Given the description of an element on the screen output the (x, y) to click on. 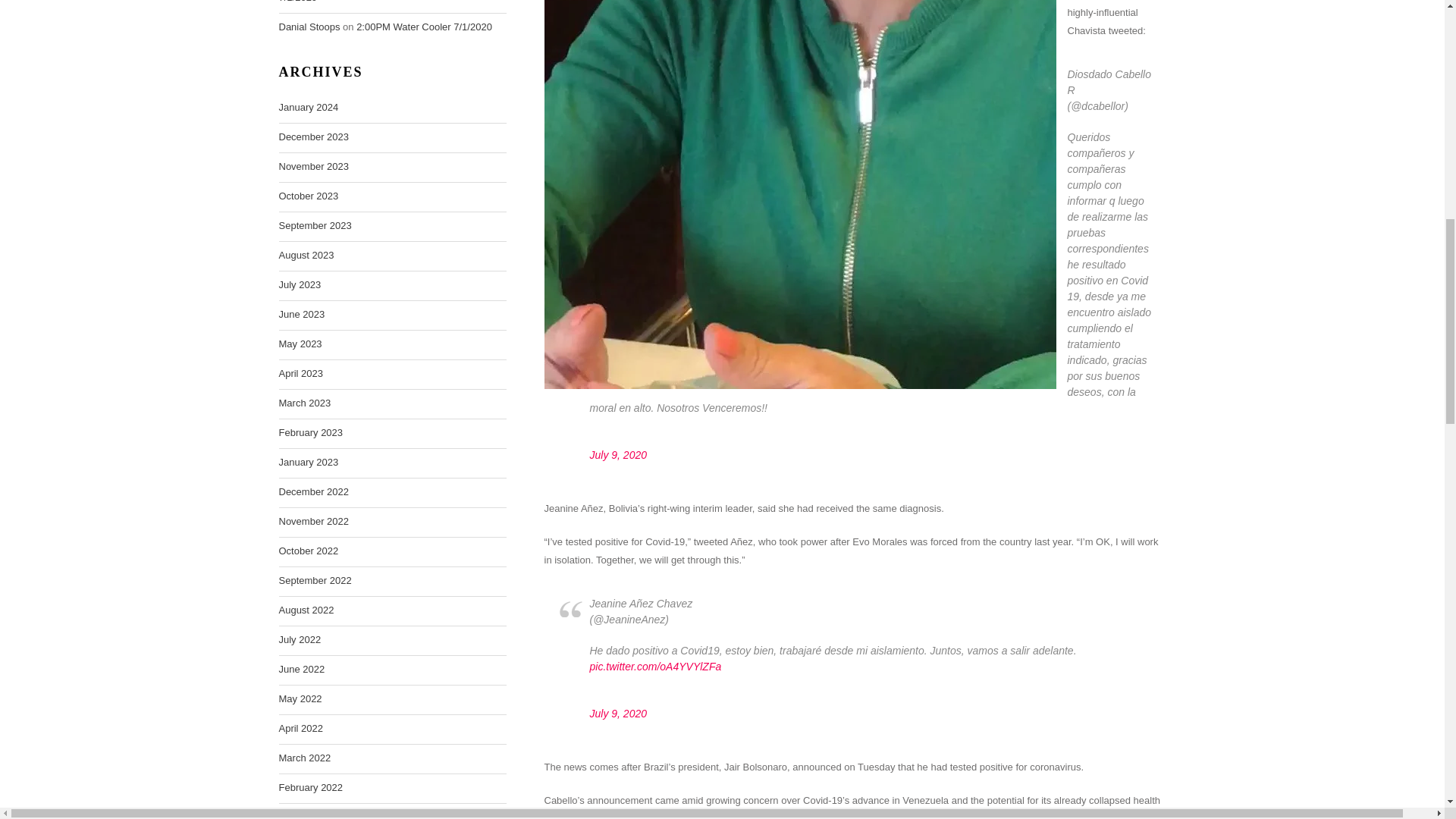
July 9, 2020 (618, 454)
April 2023 (301, 373)
June 2023 (301, 314)
May 2023 (300, 343)
Danial Stoops (309, 26)
November 2023 (314, 167)
October 2023 (309, 196)
December 2023 (314, 136)
January 2024 (309, 107)
July 2023 (300, 285)
